Given the description of an element on the screen output the (x, y) to click on. 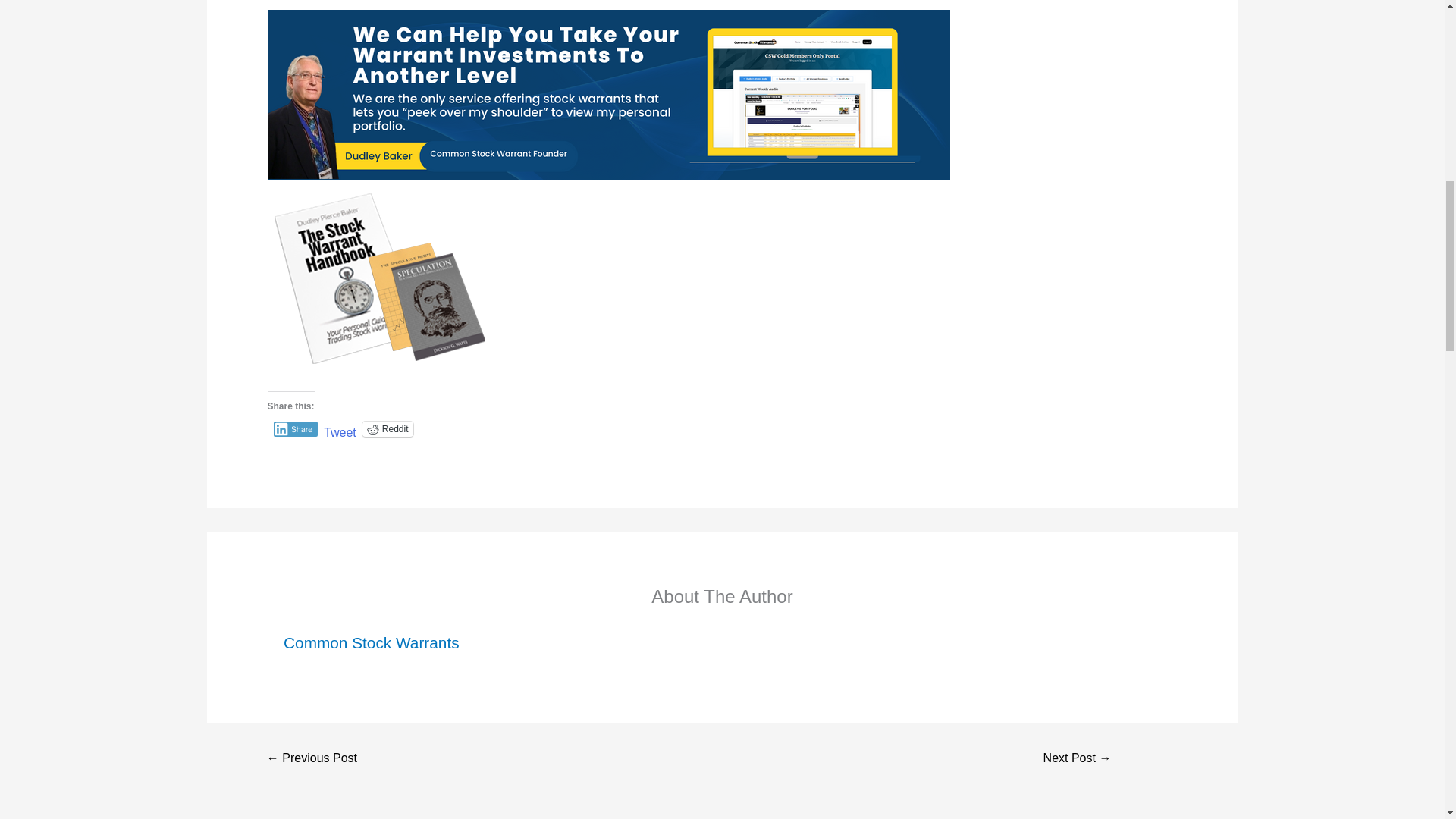
Click to share on Reddit (387, 428)
Tweet (339, 427)
Common Stock Warrants (371, 642)
Stock Market On Last Leg Higher and Precious Metals Confirm (1076, 758)
Reddit (387, 428)
Junior Mining News - March 8, 2024 (311, 758)
Share (295, 428)
